Given the description of an element on the screen output the (x, y) to click on. 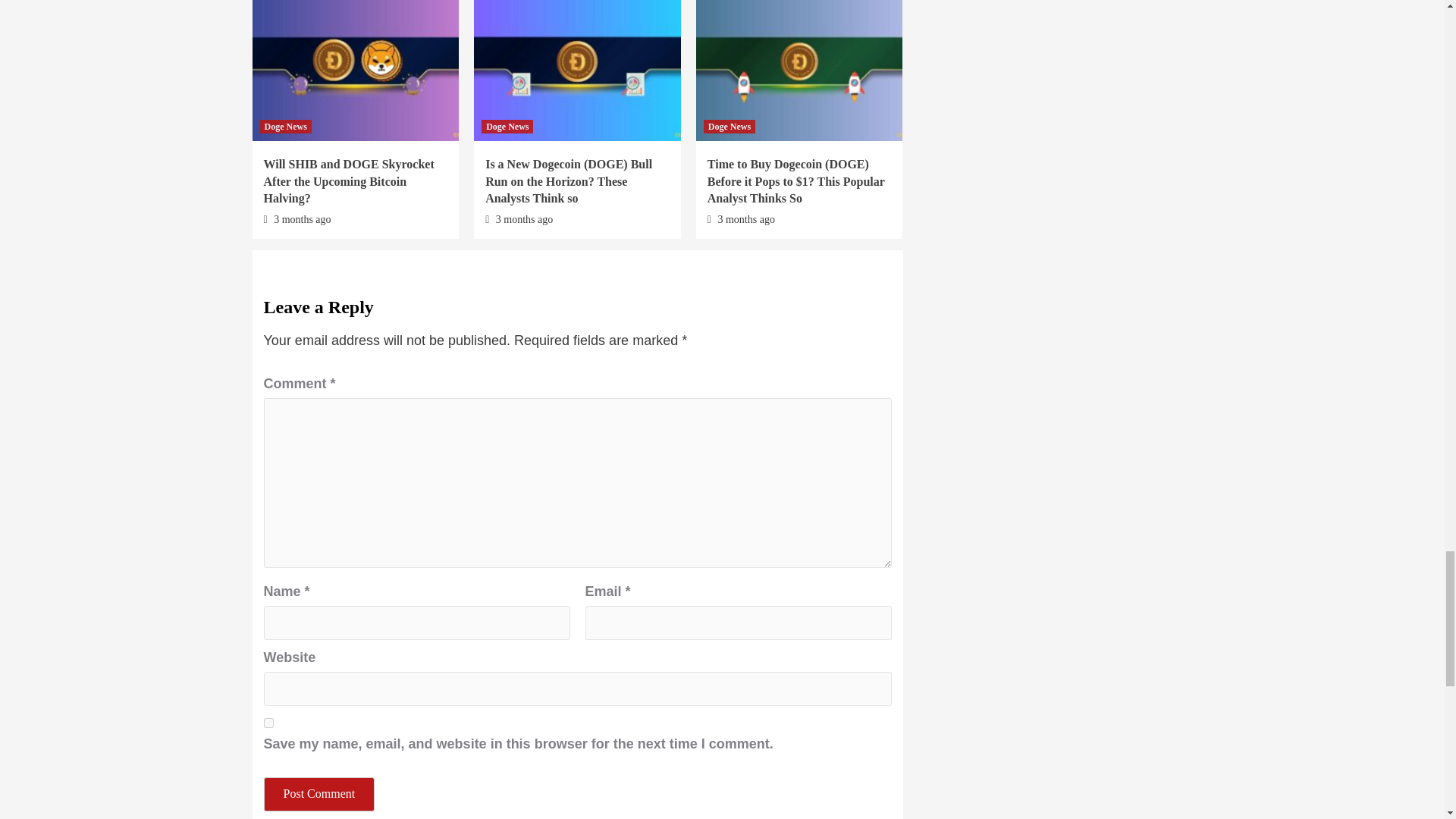
yes (268, 723)
Post Comment (319, 794)
